Given the description of an element on the screen output the (x, y) to click on. 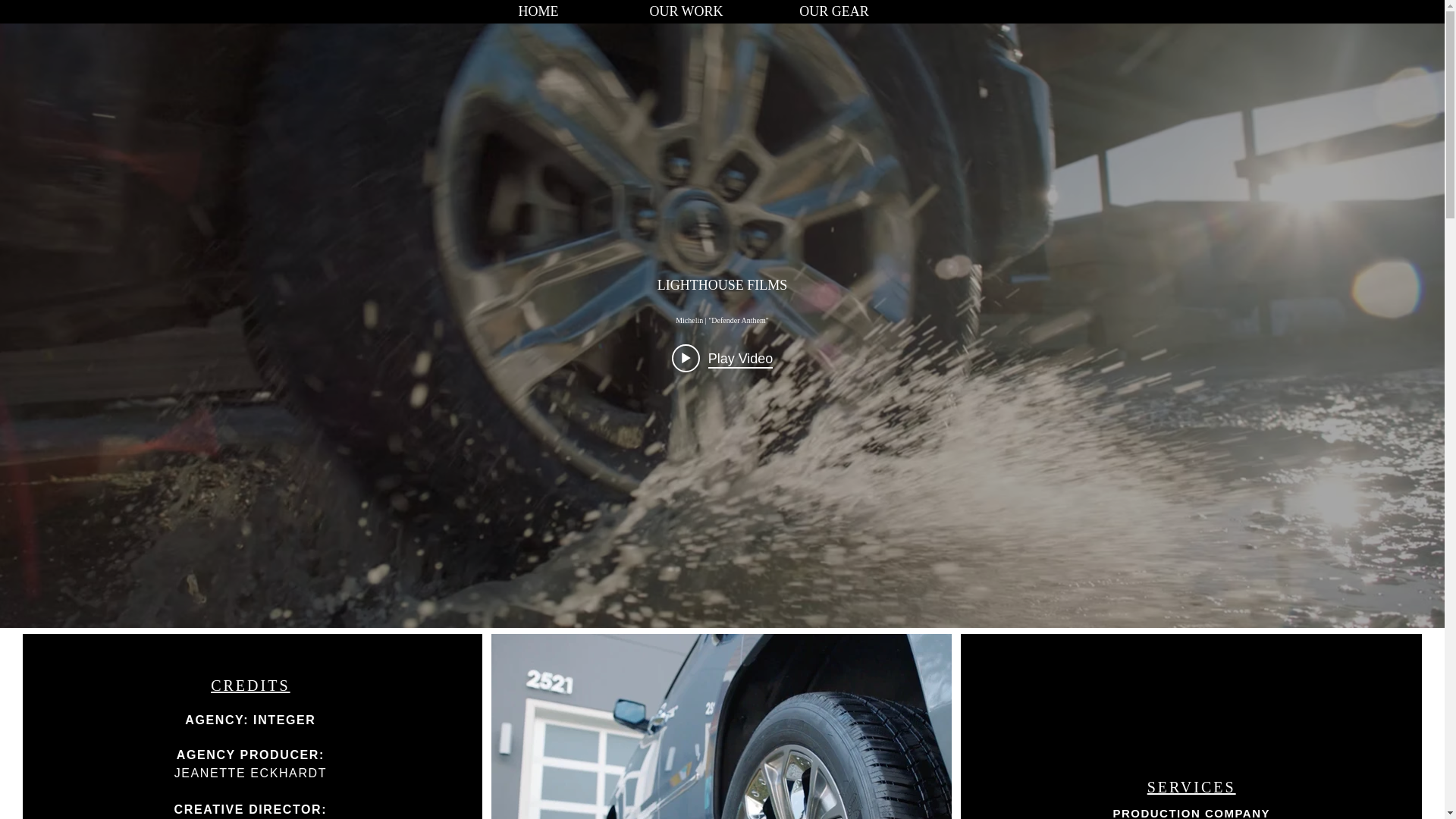
HOME (537, 11)
Play Video (722, 358)
OUR WORK (686, 11)
OUR GEAR (833, 11)
